Given the description of an element on the screen output the (x, y) to click on. 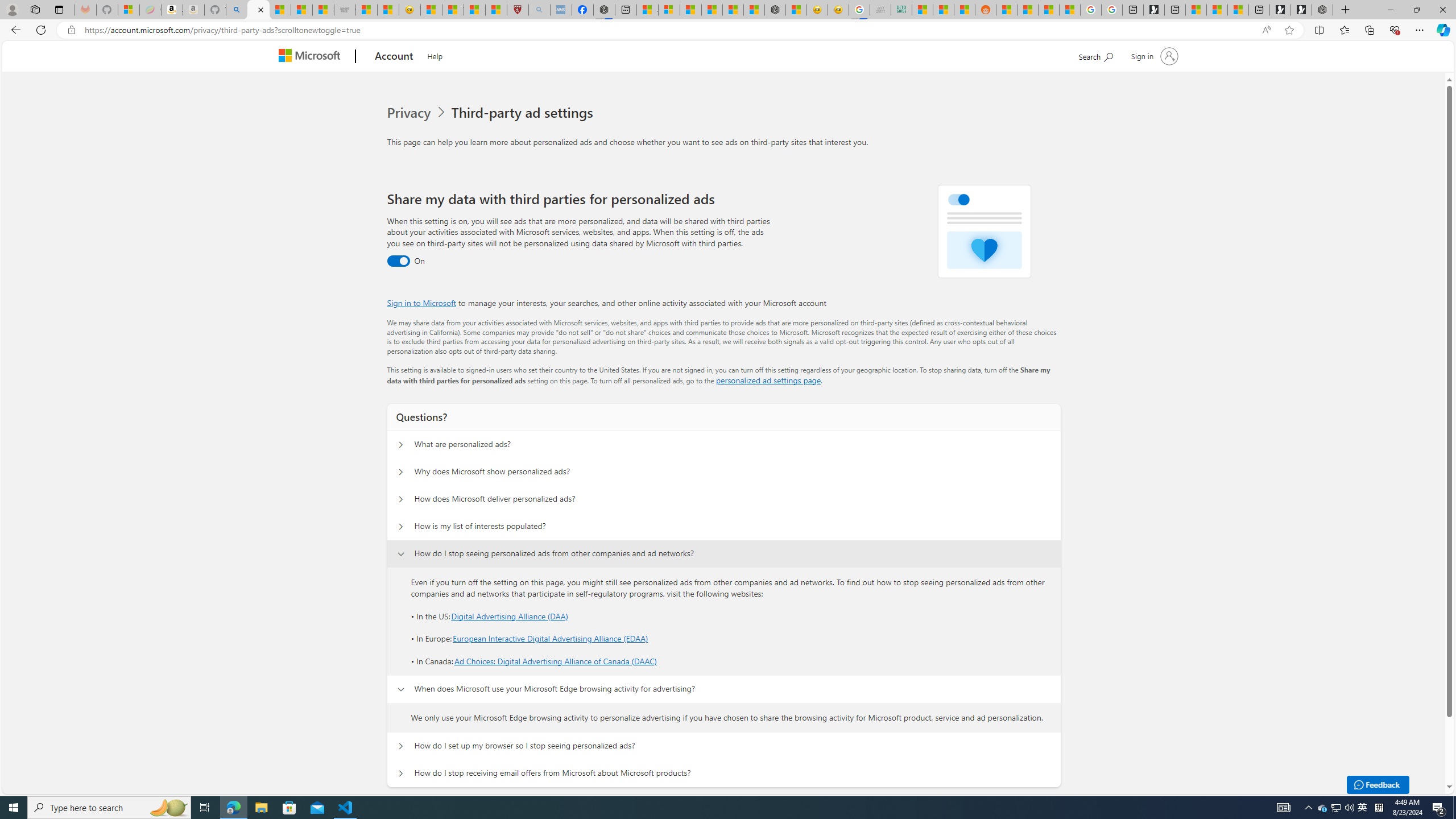
Microsoft (311, 56)
MSN (964, 9)
Questions? What are personalized ads? (401, 444)
Nordace - #1 Japanese Best-Seller - Siena Smart Backpack (775, 9)
